Given the description of an element on the screen output the (x, y) to click on. 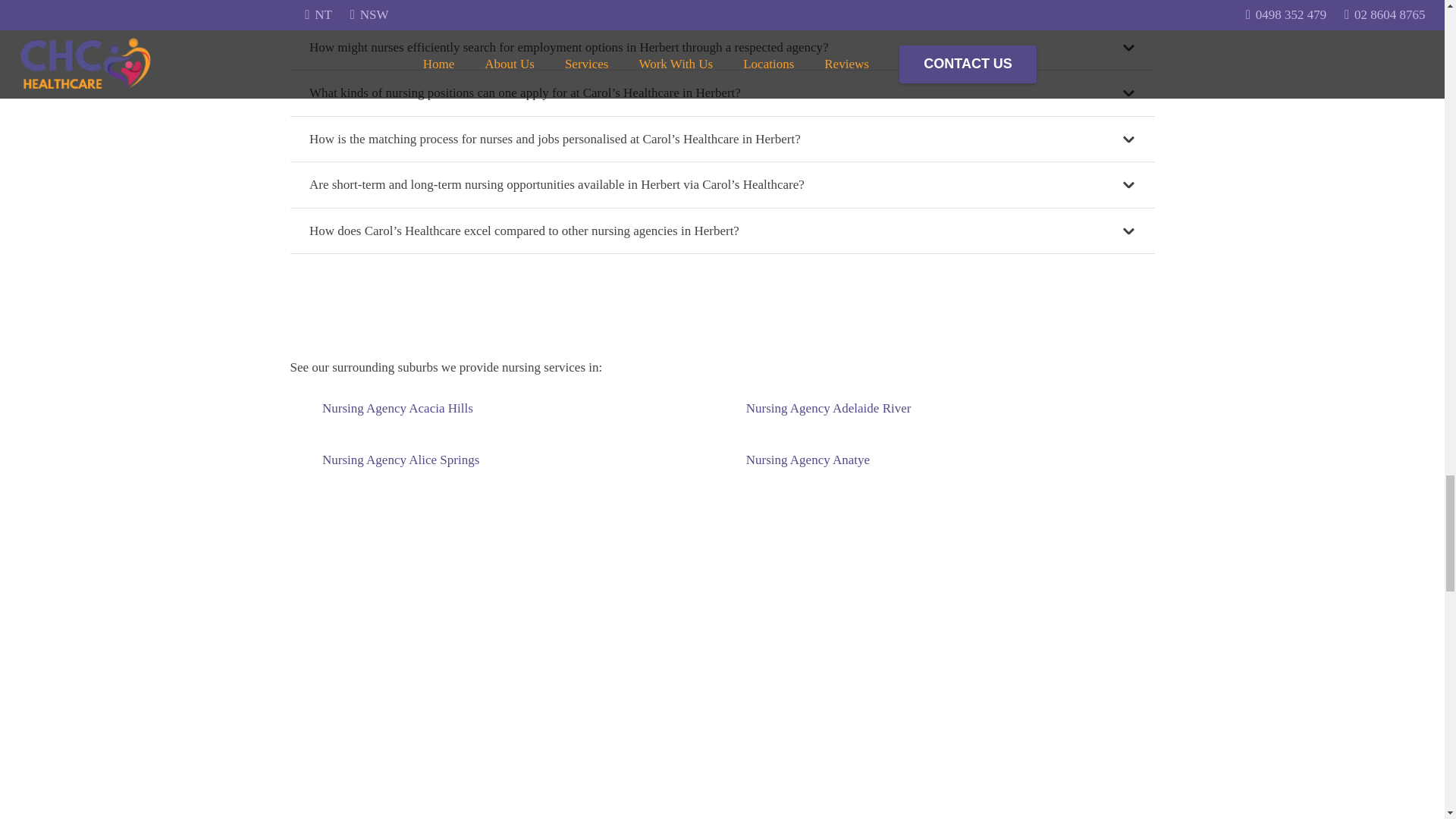
Nursing Agency Alice Springs (400, 459)
Nursing Agency Acacia Hills (397, 408)
Nursing Agency Anatye (807, 459)
Nursing Agency Adelaide River (828, 408)
Nursing Agency Alice Springs (400, 459)
Nursing Agency Anatye (807, 459)
Nursing Agency Adelaide River (828, 408)
Nursing Agency Acacia Hills (397, 408)
